Given the description of an element on the screen output the (x, y) to click on. 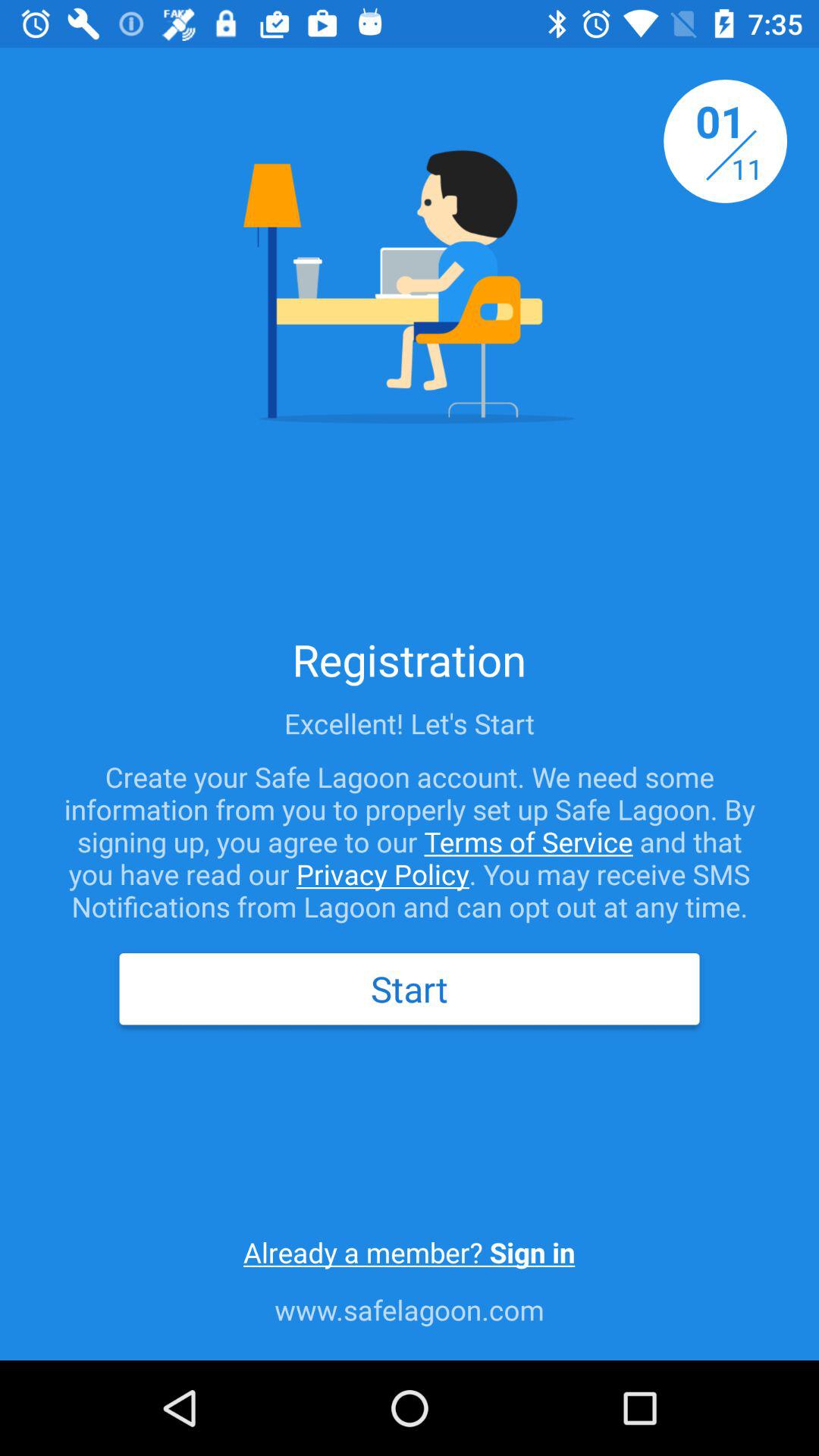
choose the already a member icon (408, 1252)
